Given the description of an element on the screen output the (x, y) to click on. 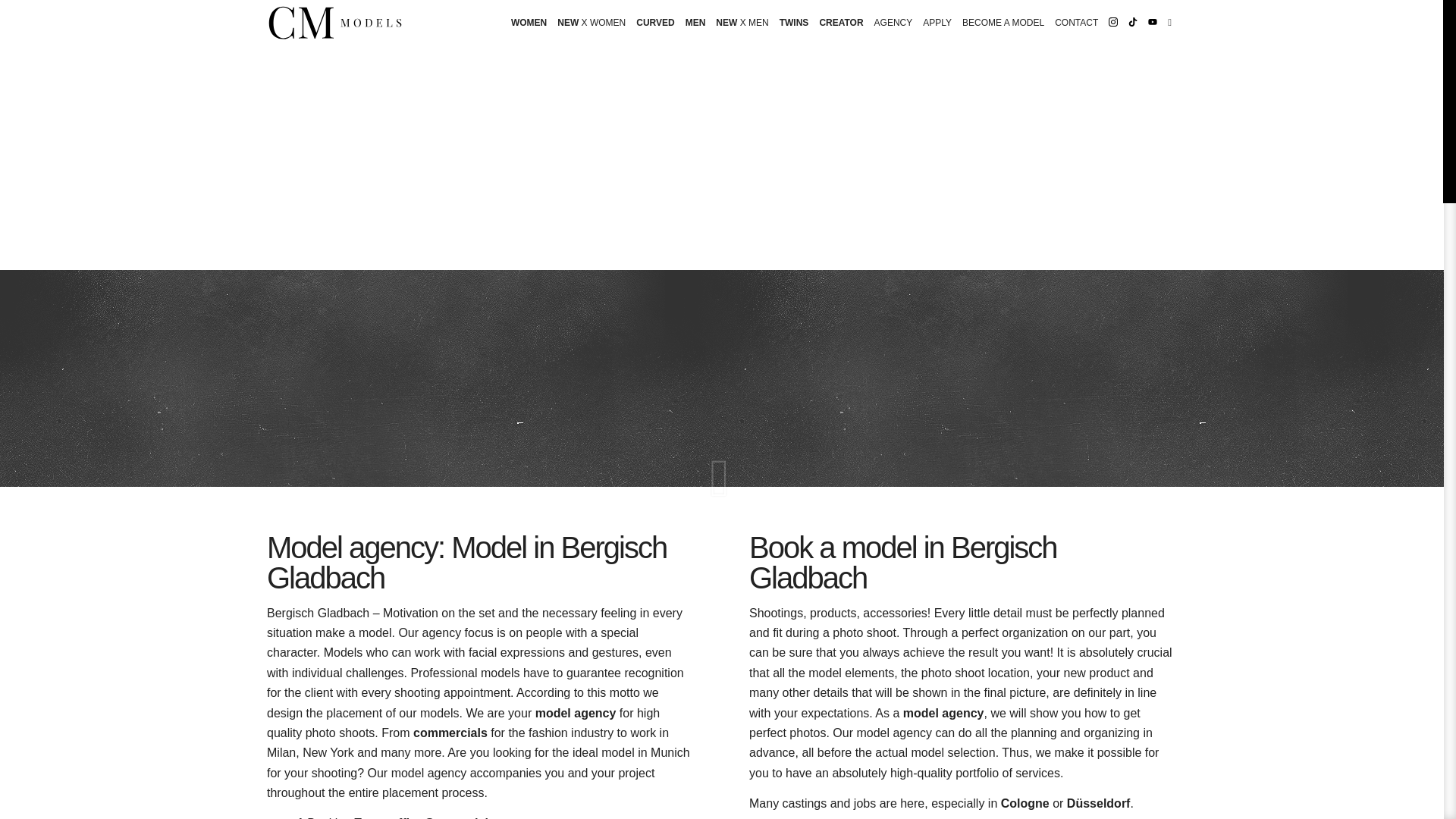
NEW X WOMEN (590, 22)
CREATOR (840, 22)
CURVED (654, 22)
AGENCY (893, 22)
NEW X MEN (741, 22)
Modelagentur Kontakt (1076, 22)
WOMEN (528, 22)
